Given the description of an element on the screen output the (x, y) to click on. 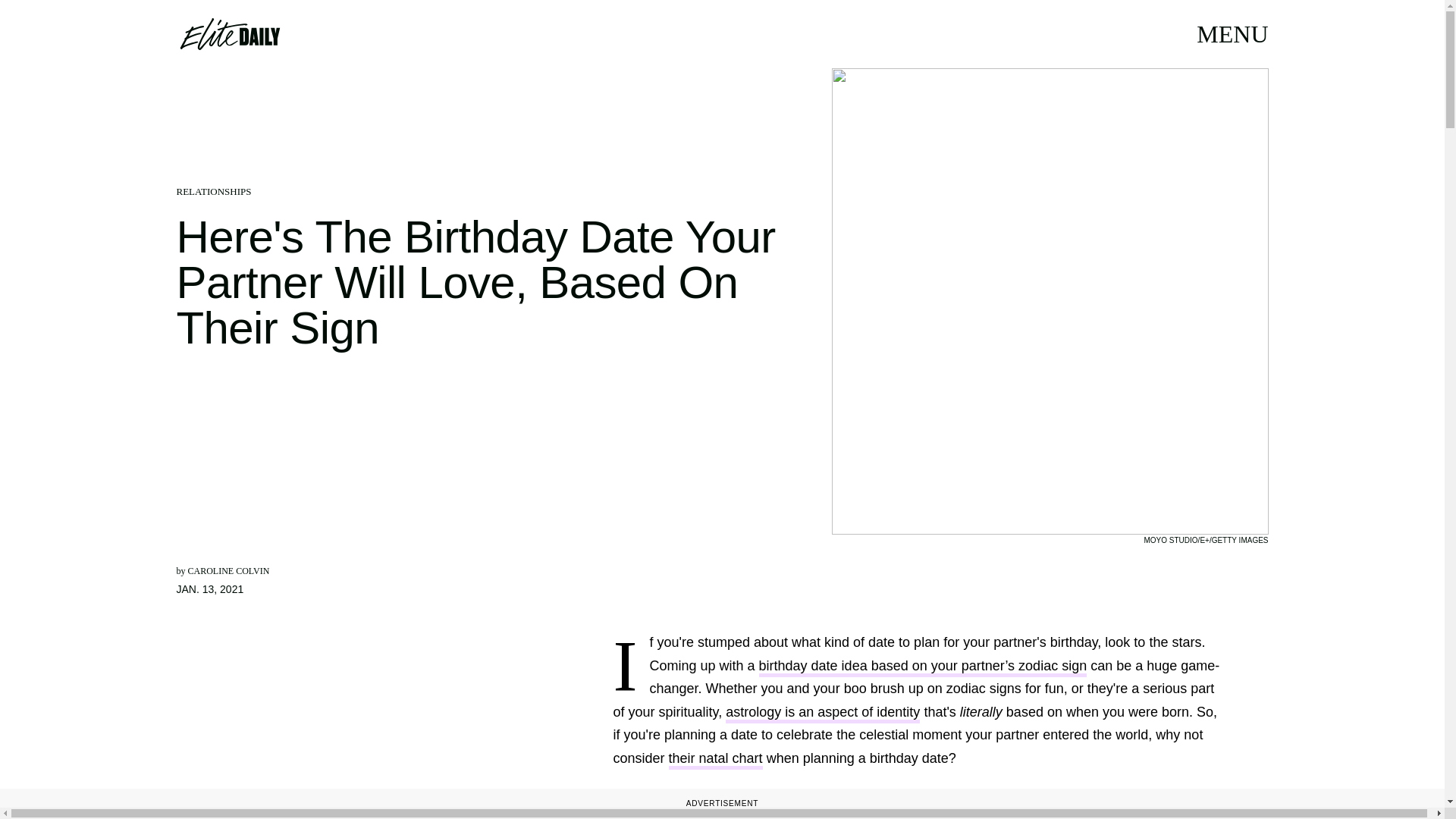
Elite Daily (229, 33)
astrology is an aspect of identity (822, 713)
their natal chart (715, 760)
CAROLINE COLVIN (228, 570)
